Given the description of an element on the screen output the (x, y) to click on. 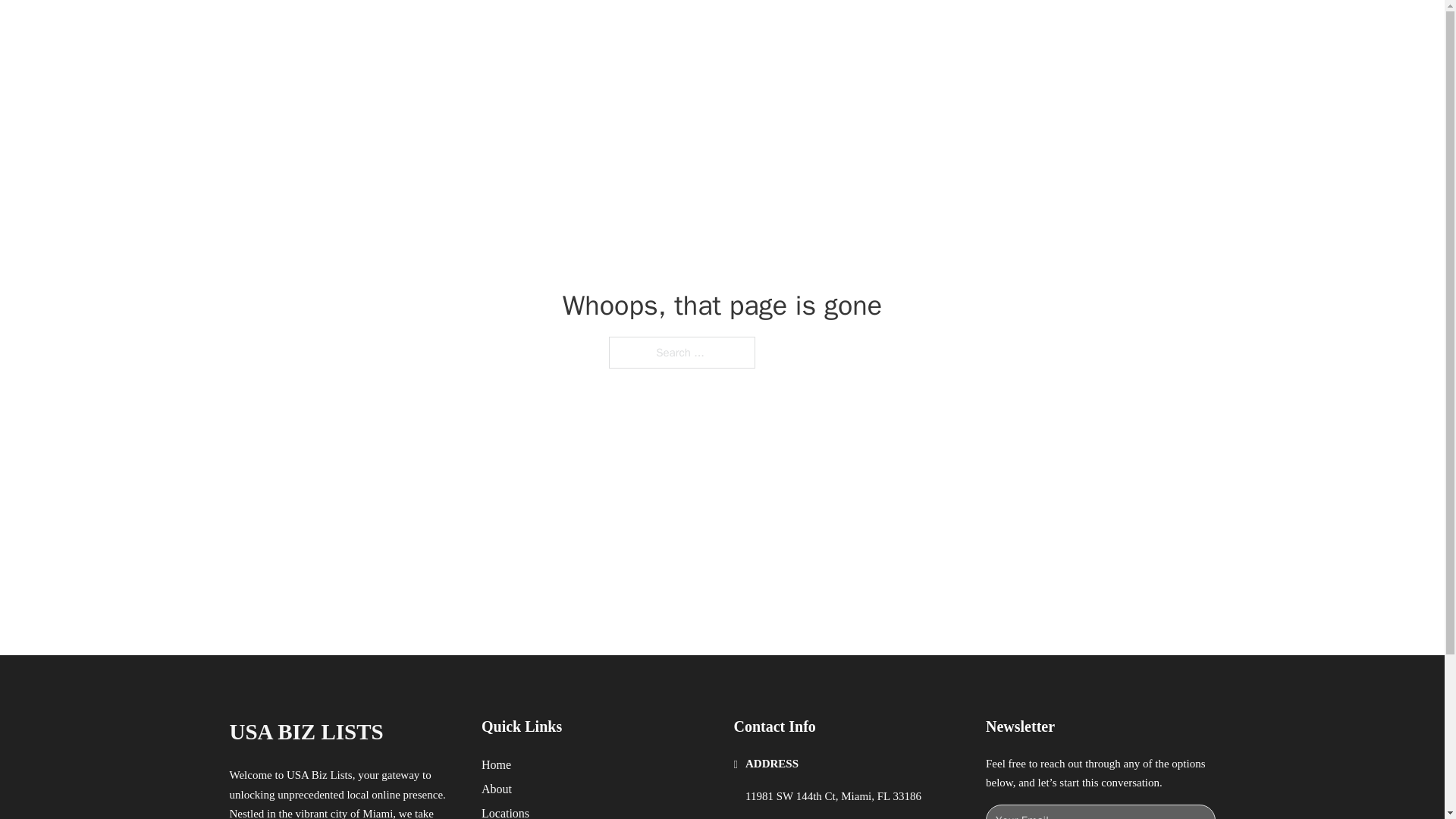
HOME (919, 29)
Locations (505, 811)
Home (496, 764)
About (496, 788)
USA BIZ LISTS (305, 732)
LOCATIONS (990, 29)
USA BIZ LISTS (384, 28)
